Given the description of an element on the screen output the (x, y) to click on. 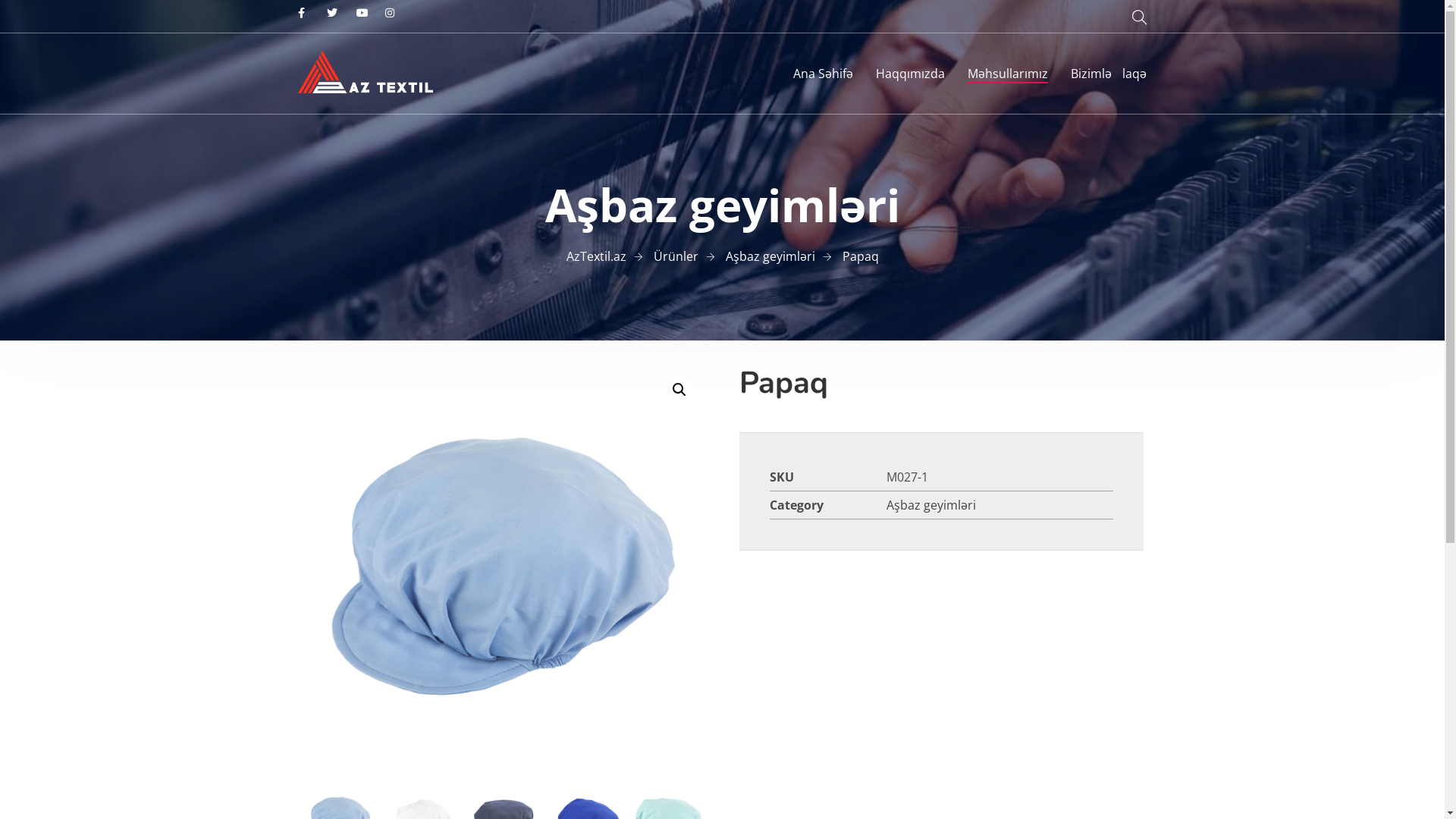
AzTextil.az Element type: text (595, 255)
bone_alpaka_IMG_1716 Element type: hover (503, 566)
